Given the description of an element on the screen output the (x, y) to click on. 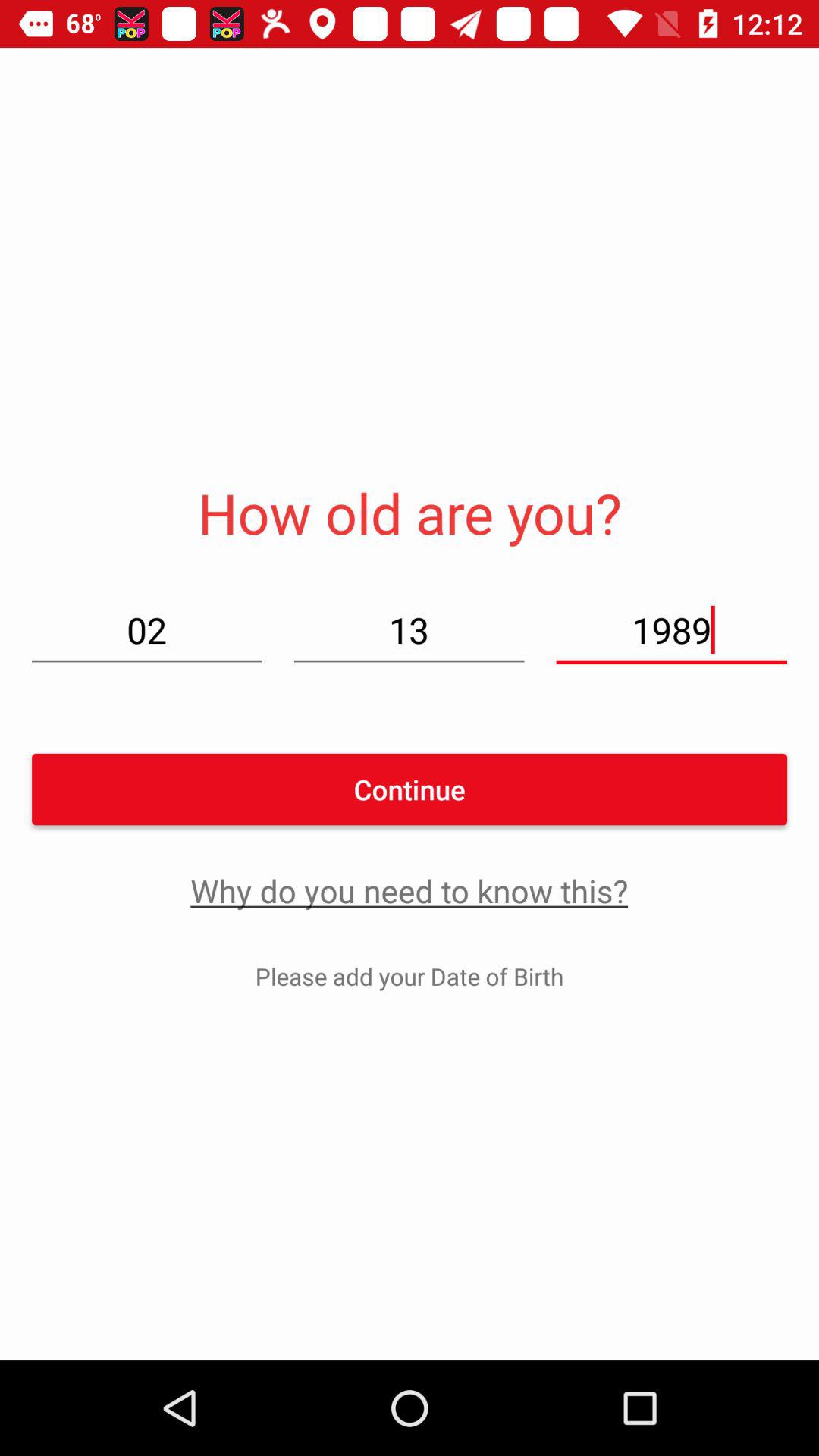
press why do you icon (408, 890)
